Given the description of an element on the screen output the (x, y) to click on. 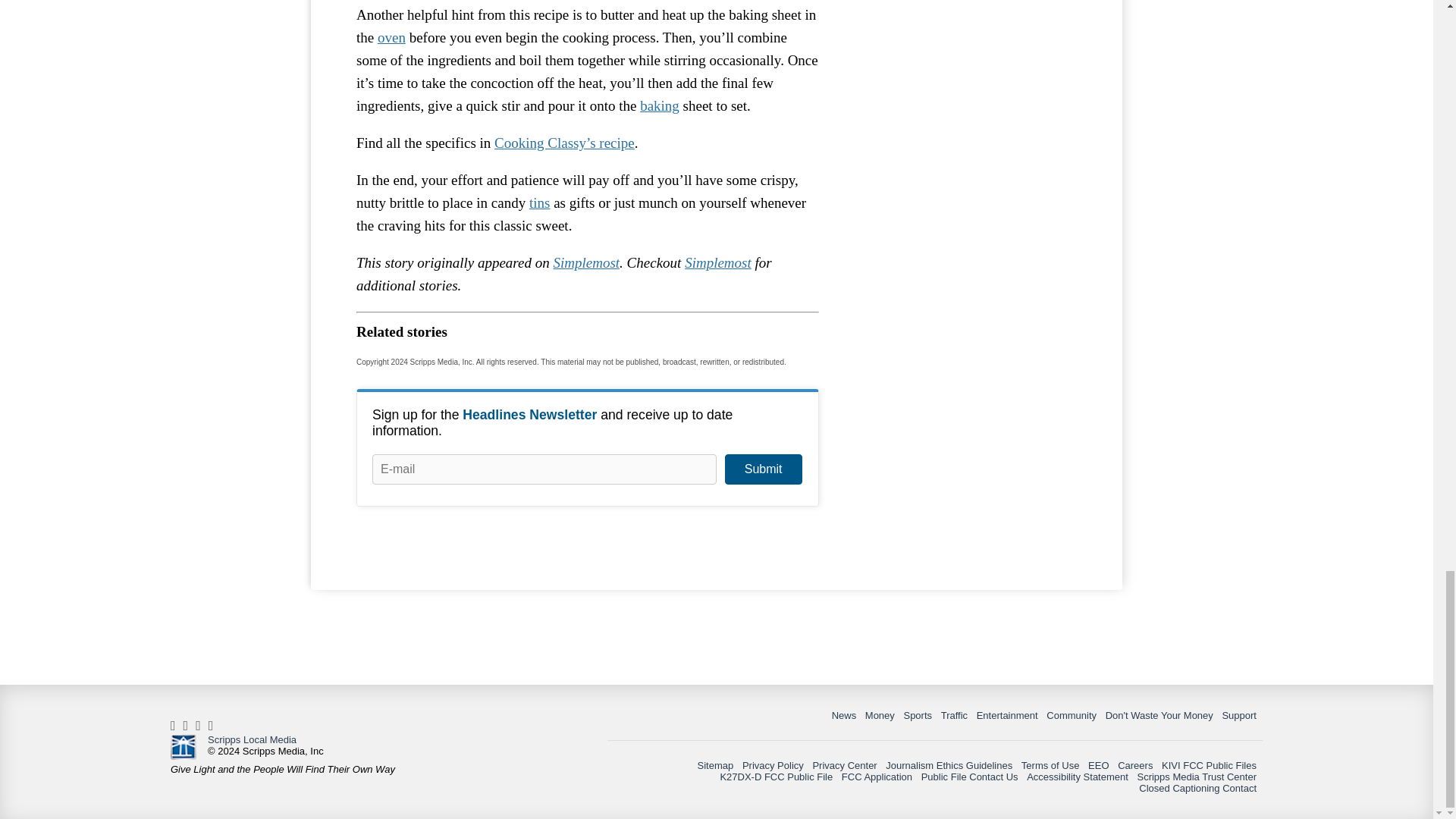
Submit (763, 469)
